Given the description of an element on the screen output the (x, y) to click on. 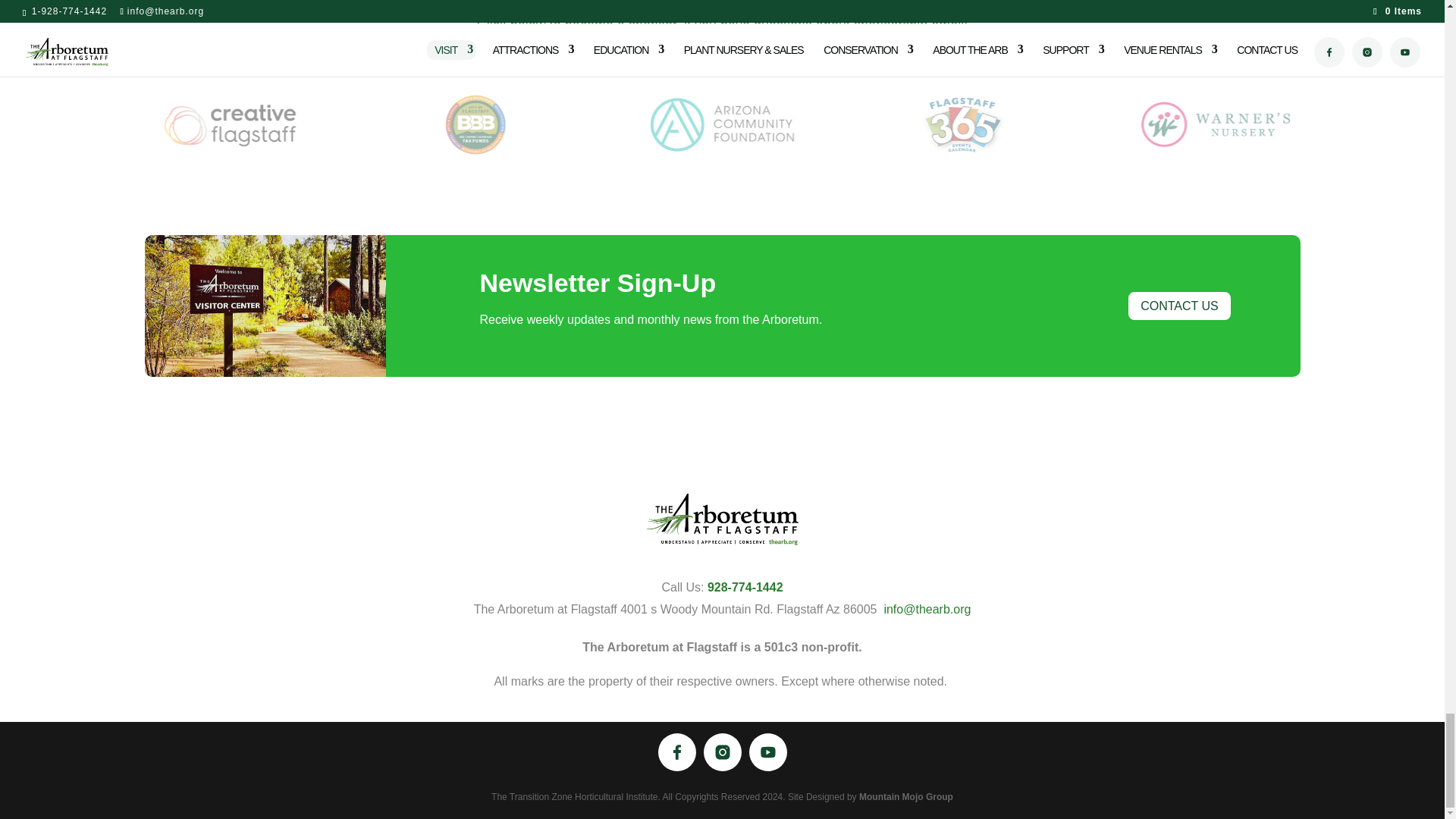
main header logo (721, 519)
